Given the description of an element on the screen output the (x, y) to click on. 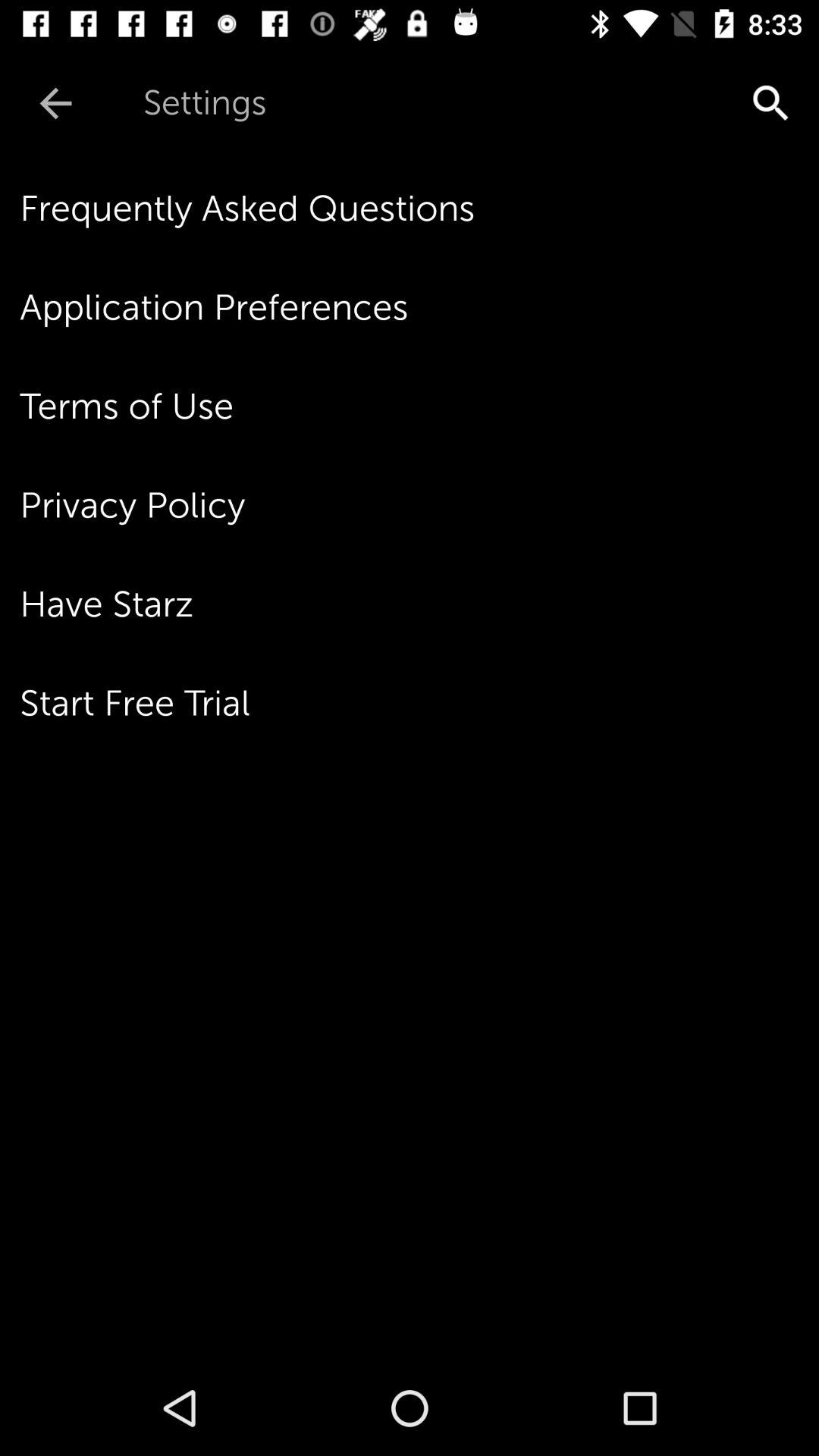
scroll to the start free trial (419, 703)
